Given the description of an element on the screen output the (x, y) to click on. 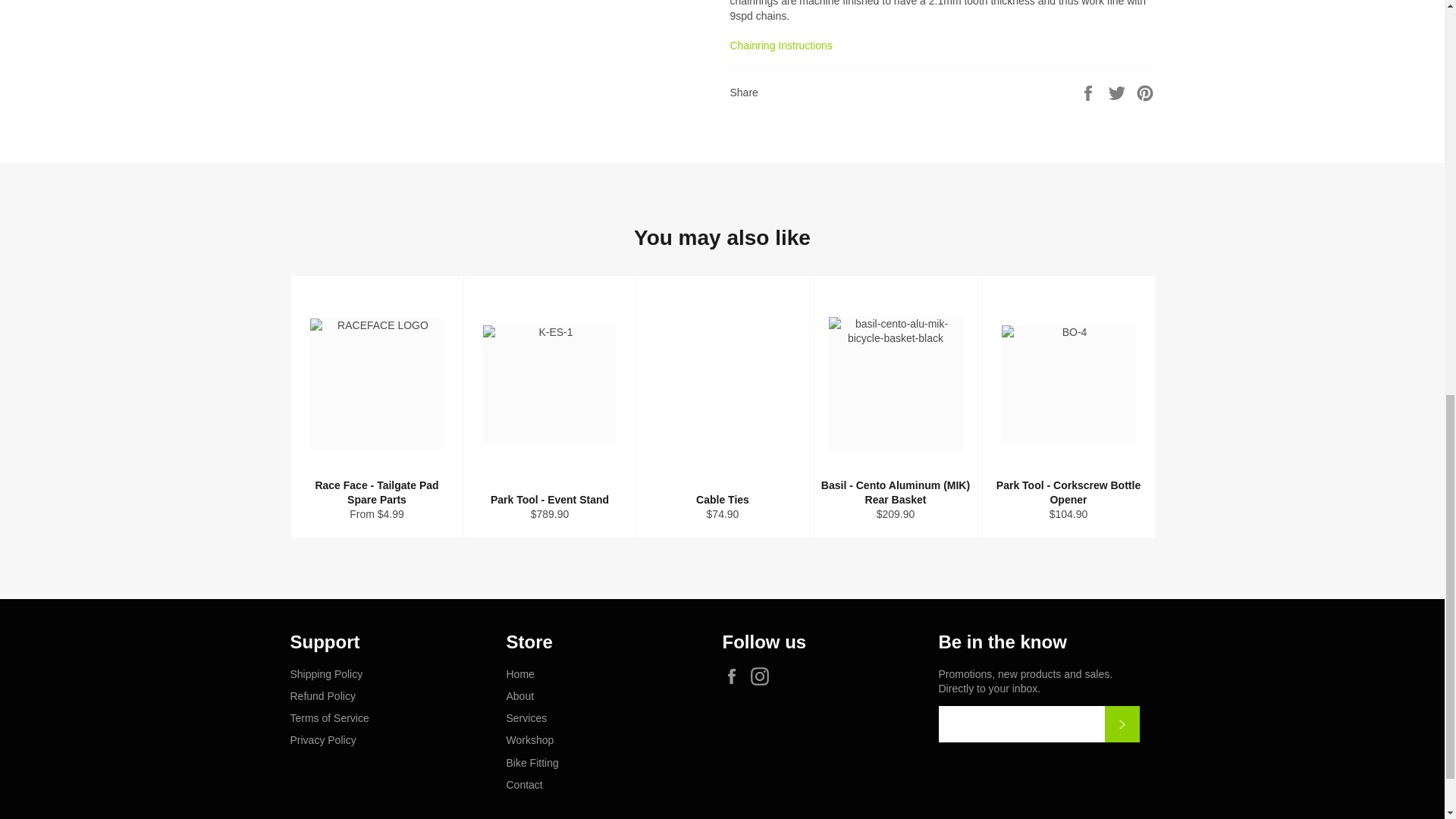
Share on Facebook (1089, 92)
Hub Cycles on Instagram (763, 676)
Hub Cycles on Facebook (735, 676)
Pin on Pinterest (1144, 92)
Tweet on Twitter (1118, 92)
